Given the description of an element on the screen output the (x, y) to click on. 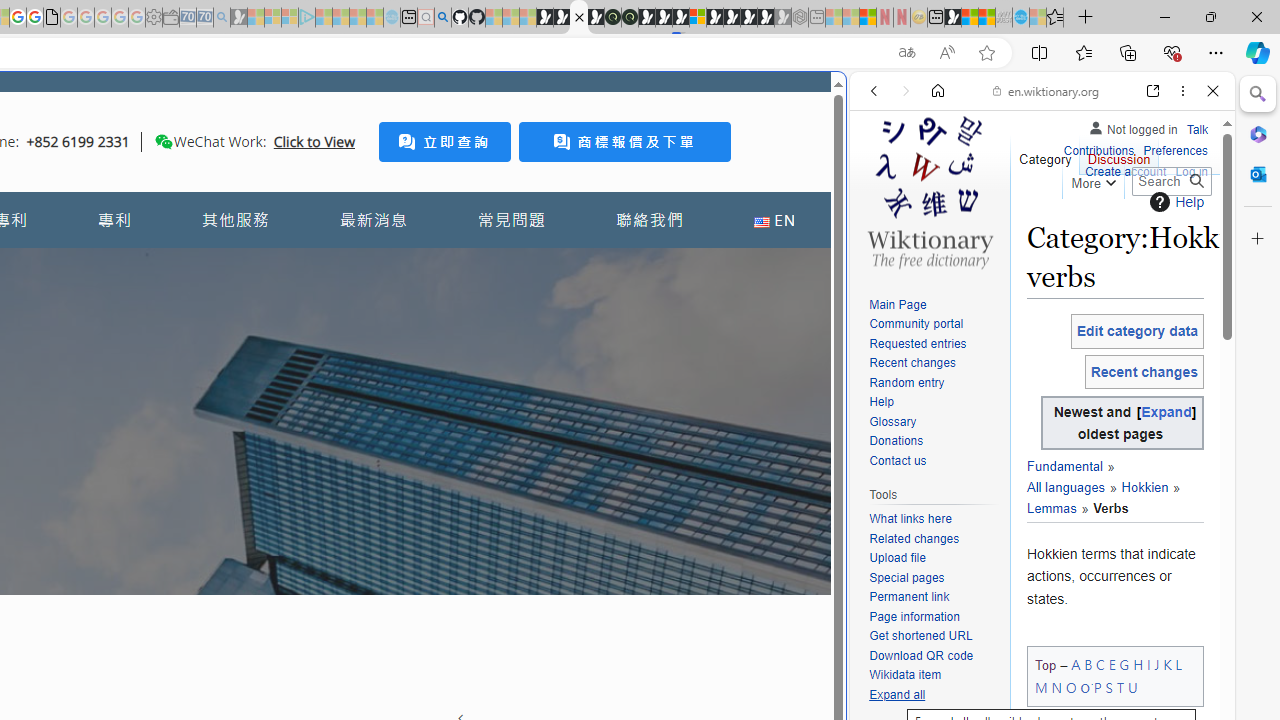
Glossary (934, 421)
Category (1045, 154)
M (1041, 687)
O (1070, 687)
Discussion (1118, 154)
Talk (1197, 129)
Close split screen (844, 102)
Go (1196, 181)
